Given the description of an element on the screen output the (x, y) to click on. 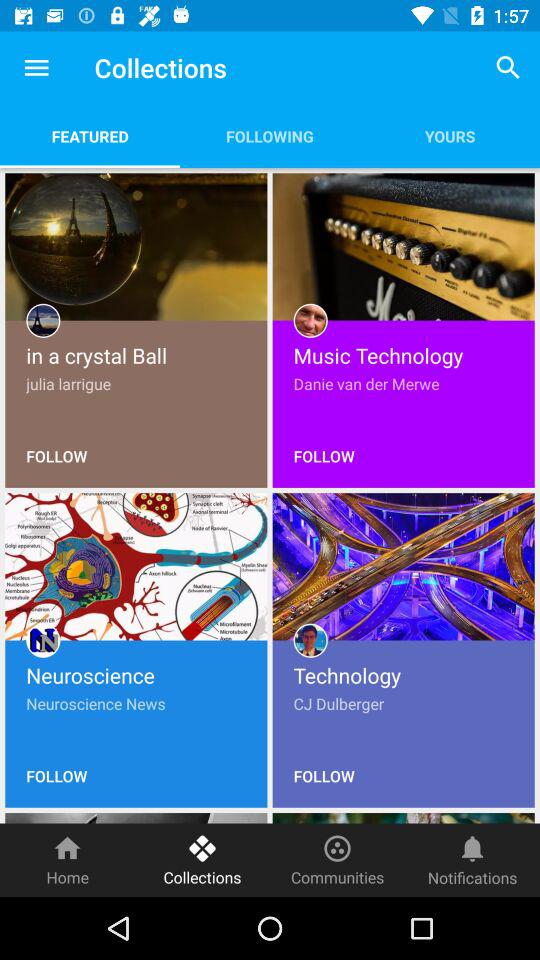
choose the item to the right of the following item (508, 67)
